Given the description of an element on the screen output the (x, y) to click on. 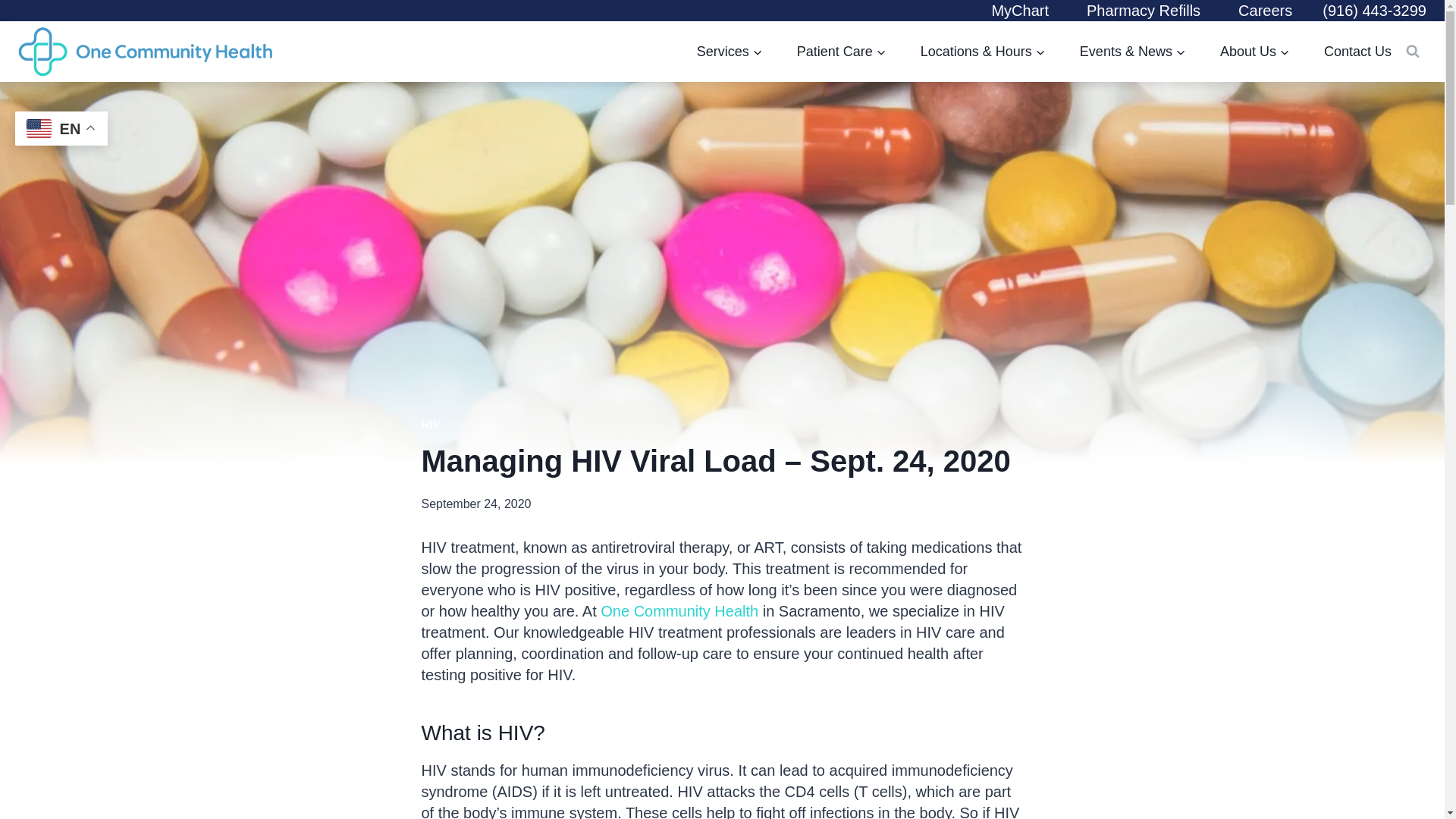
Patient Care (841, 51)
MyChart (1008, 10)
Services (729, 51)
Careers (1253, 10)
Pharmacy Refills (1131, 10)
